Given the description of an element on the screen output the (x, y) to click on. 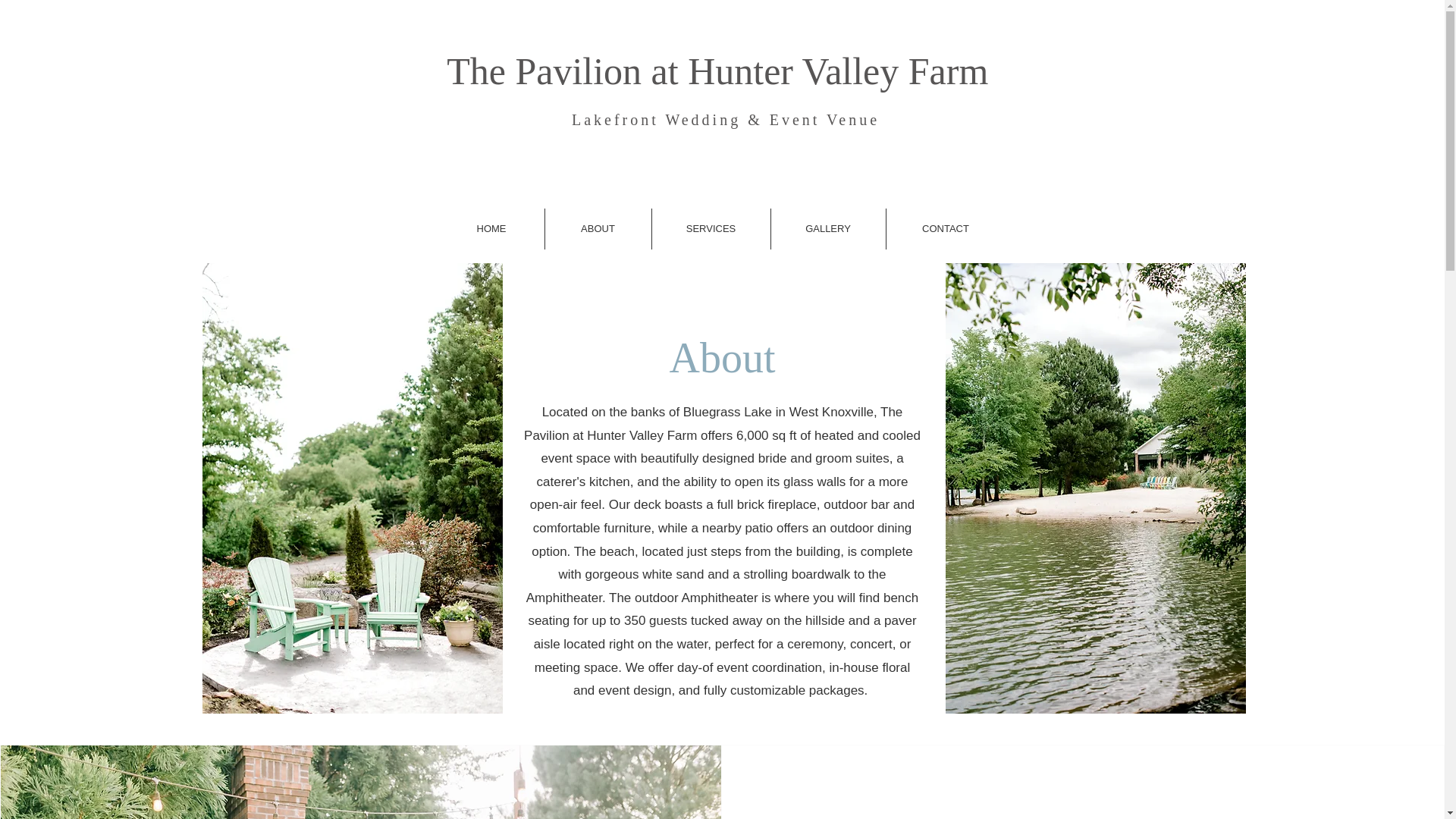
GALLERY (827, 228)
SERVICES (711, 228)
ABOUT (597, 228)
CONTACT (944, 228)
HOME (490, 228)
